Given the description of an element on the screen output the (x, y) to click on. 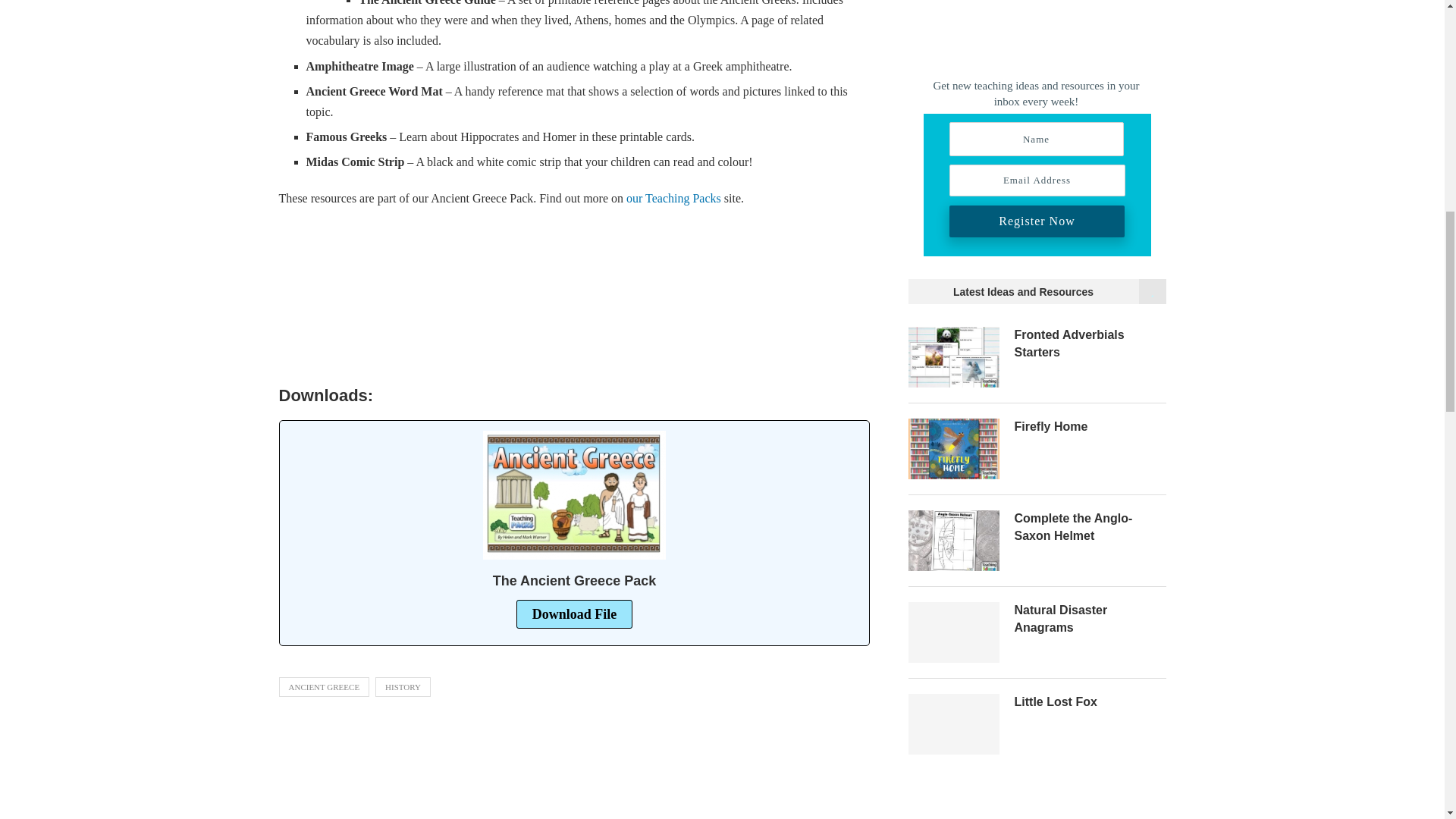
Fronted Adverbials Starters (953, 356)
Firefly Home (953, 448)
Fronted Adverbials Starters (1090, 343)
